Given the description of an element on the screen output the (x, y) to click on. 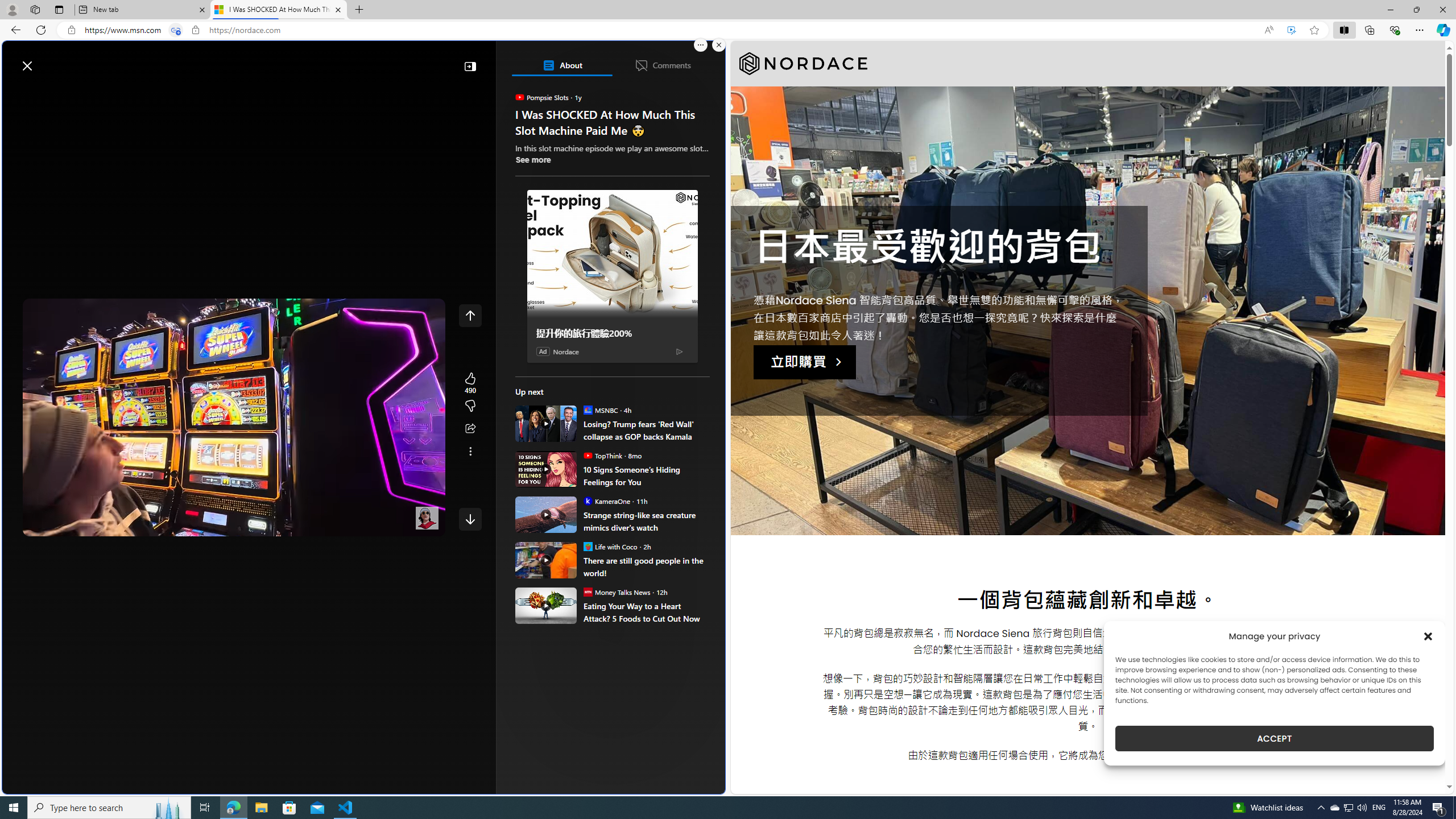
KameraOne KameraOne (606, 500)
KameraOne (587, 500)
490 Like (469, 382)
Share this story (469, 428)
Class: control (469, 518)
